Given the description of an element on the screen output the (x, y) to click on. 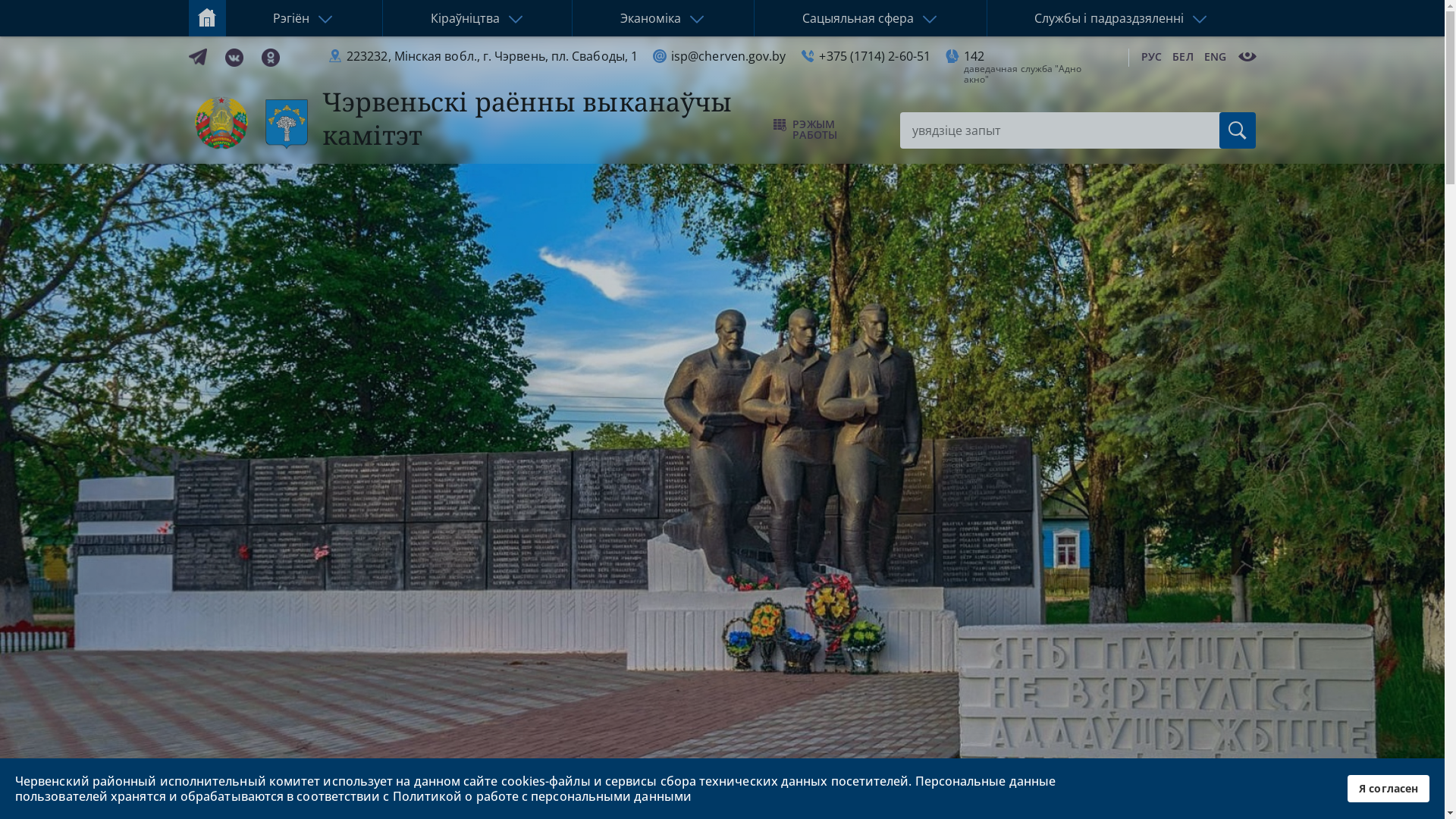
VK Element type: hover (233, 55)
ENG Element type: text (1215, 56)
+375 (1714) 2-60-51 Element type: text (874, 55)
Telegram Element type: hover (197, 55)
isp@cherven.gov.by Element type: text (728, 55)
142 Element type: text (973, 55)
